Given the description of an element on the screen output the (x, y) to click on. 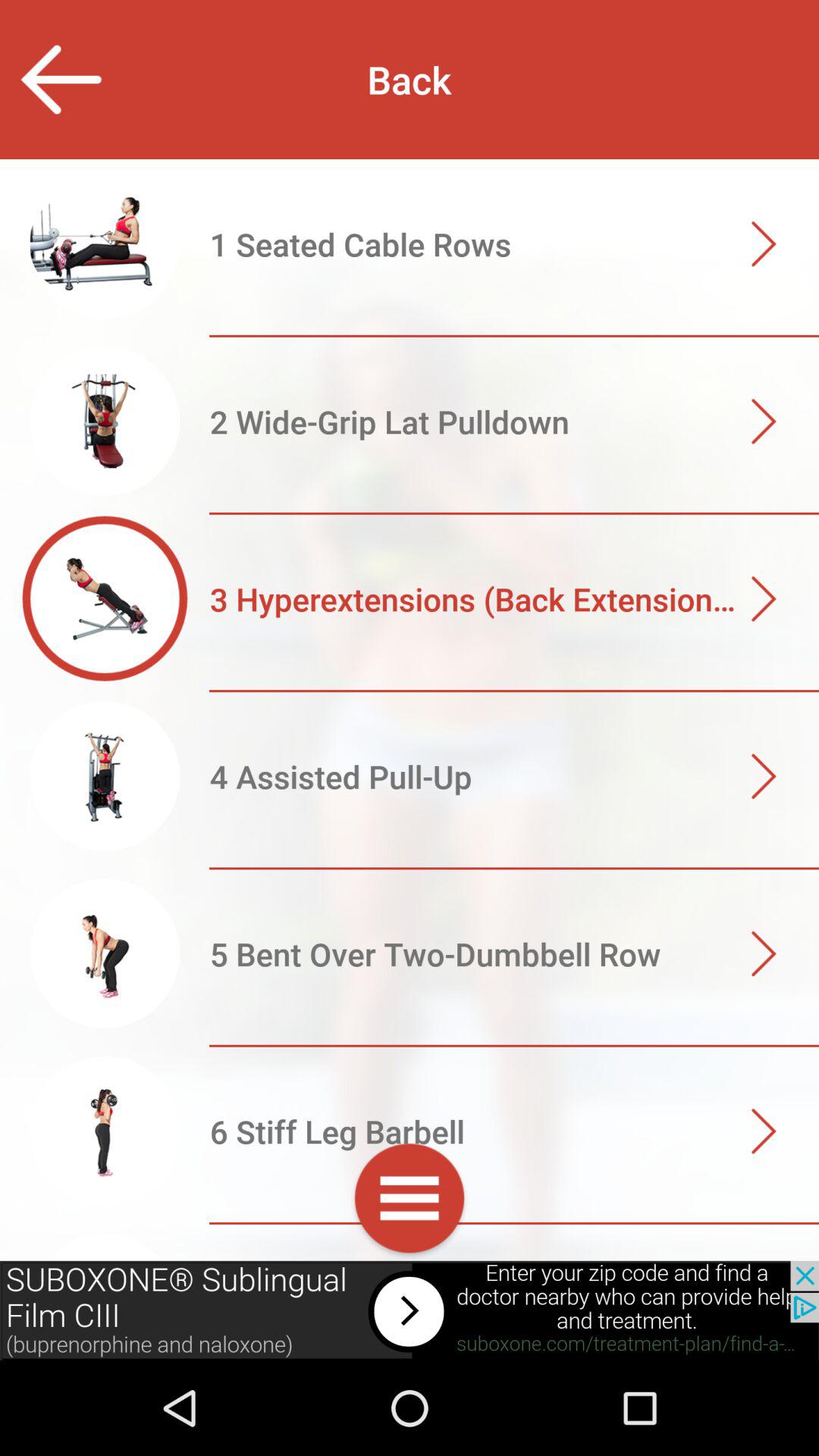
external advertisement (409, 1310)
